Given the description of an element on the screen output the (x, y) to click on. 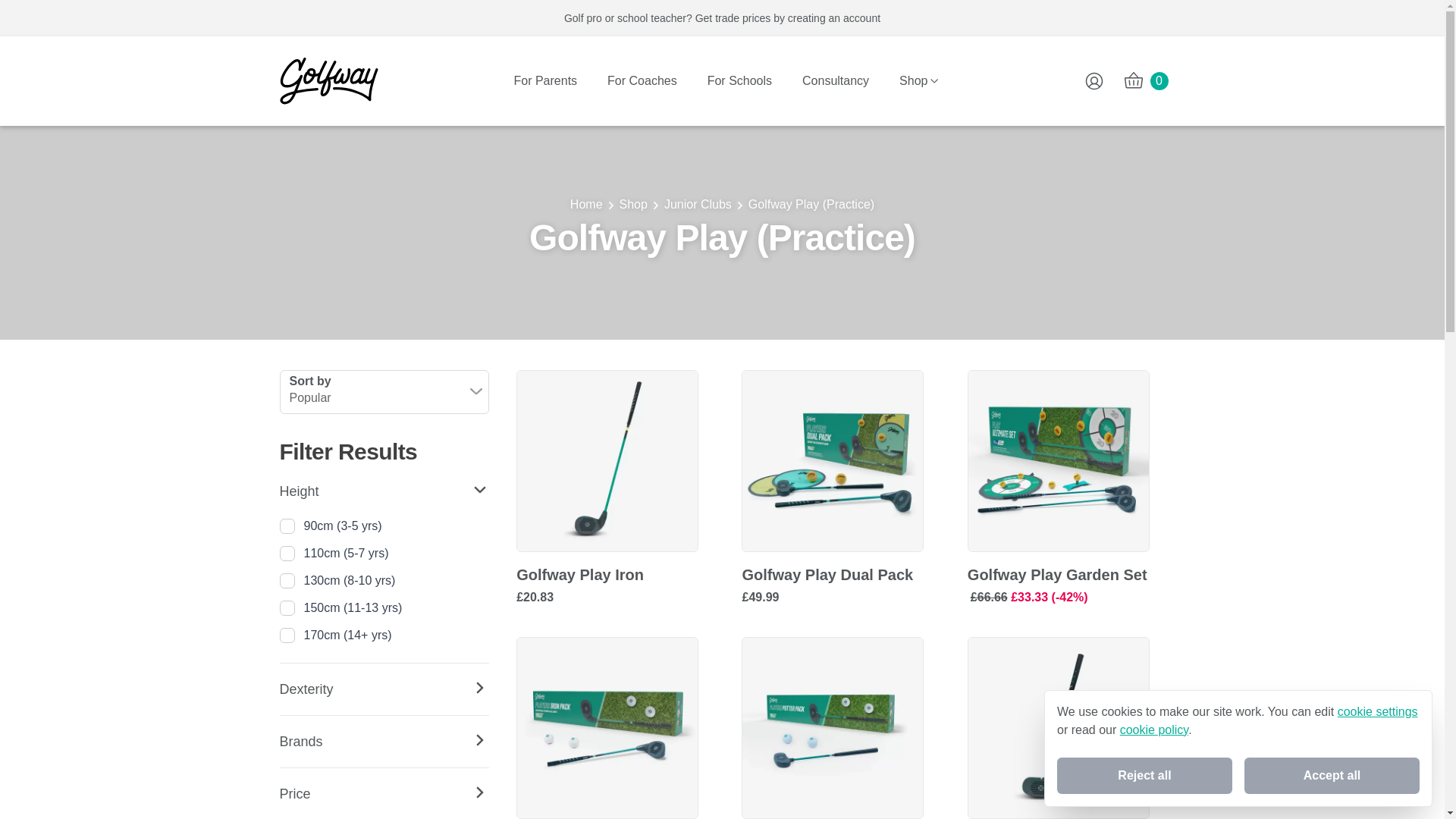
130cm-8-10-yrs (286, 580)
110cm-5-7-yrs (286, 553)
Account (1093, 80)
150cm-11-13-yrs (286, 607)
170cm-14yrs-to-adult (286, 635)
Shop (919, 81)
For Parents (545, 81)
0 (1144, 80)
Golfway (328, 80)
